Given the description of an element on the screen output the (x, y) to click on. 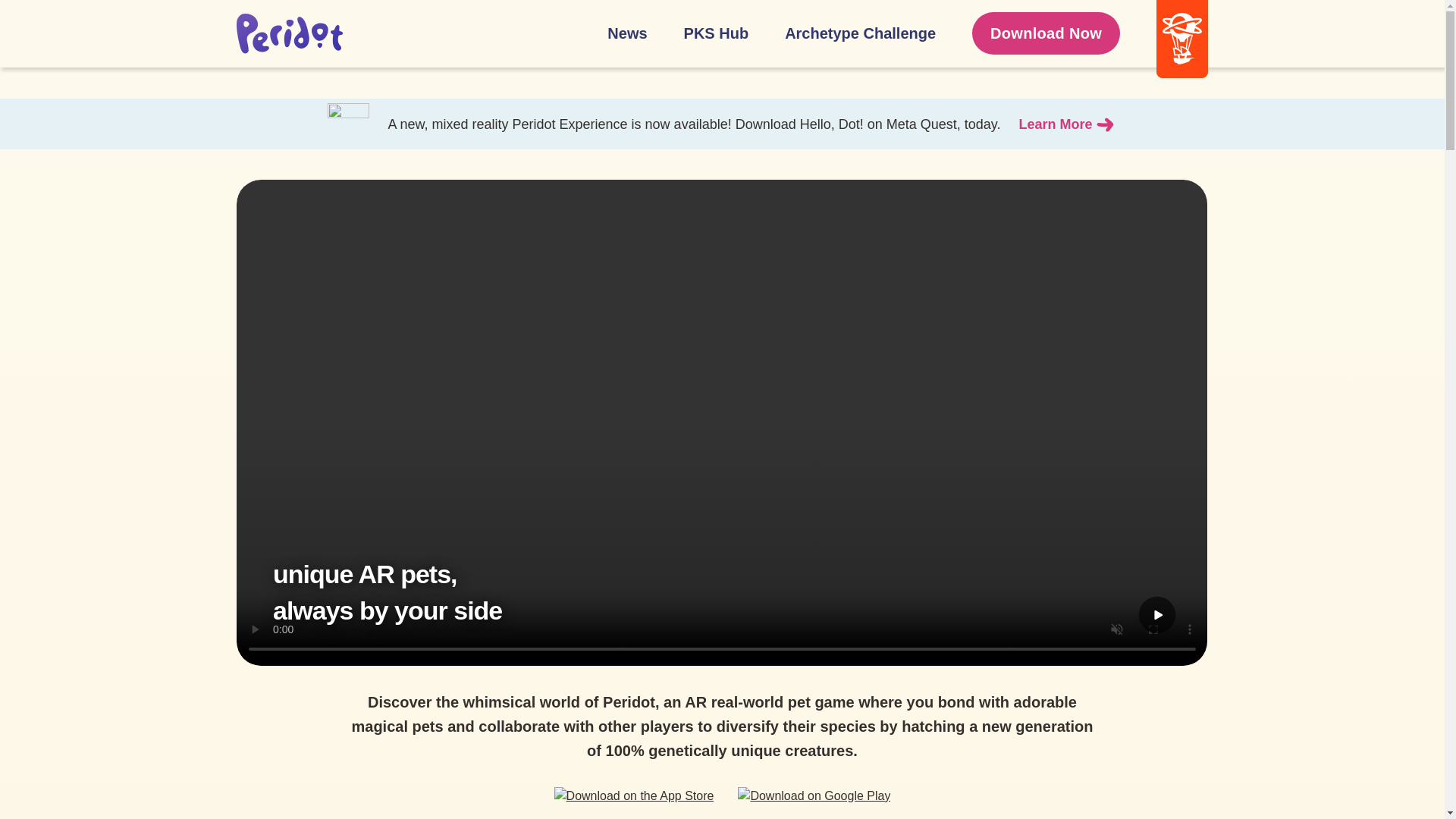
PKS Hub (716, 33)
Archetype Challenge (860, 33)
News (626, 33)
Learn More (1067, 124)
Download Now (1045, 33)
